Given the description of an element on the screen output the (x, y) to click on. 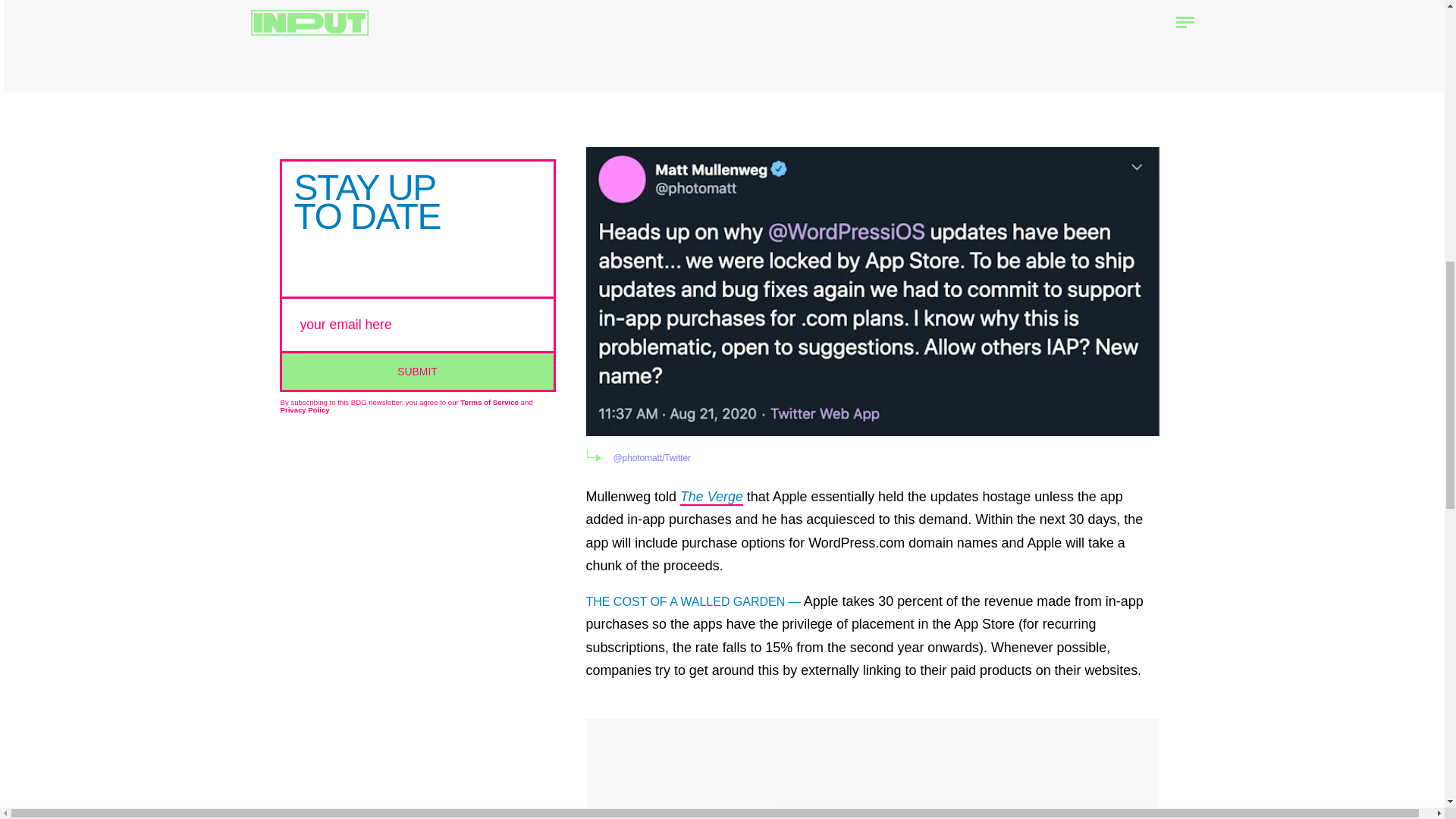
Privacy Policy (305, 409)
The Verge (710, 497)
SUBMIT (417, 370)
Terms of Service (489, 402)
